Given the description of an element on the screen output the (x, y) to click on. 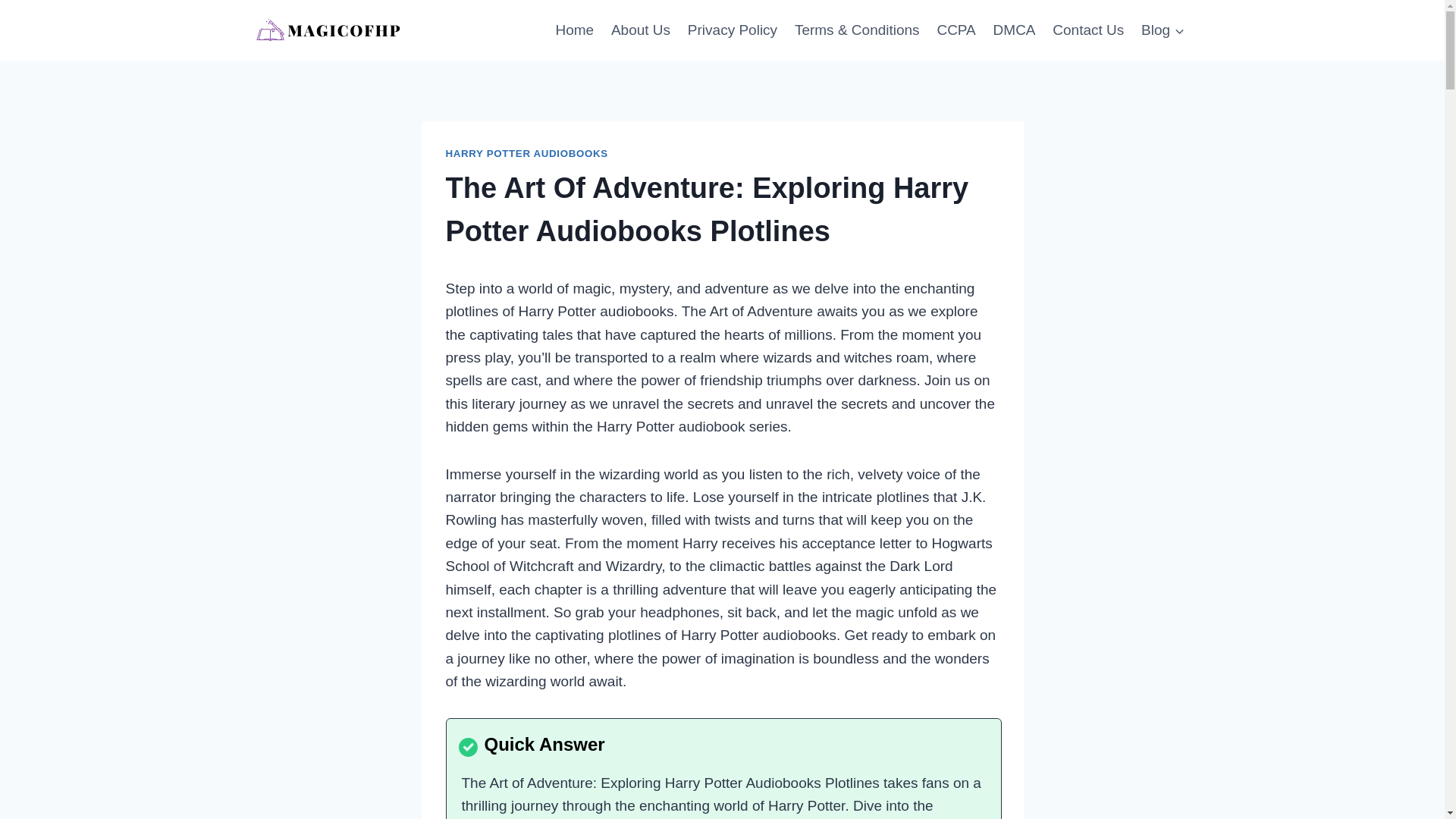
HARRY POTTER AUDIOBOOKS (526, 153)
DMCA (1013, 29)
Home (574, 29)
CCPA (956, 29)
Blog (1162, 29)
About Us (640, 29)
Privacy Policy (732, 29)
Contact Us (1087, 29)
